Given the description of an element on the screen output the (x, y) to click on. 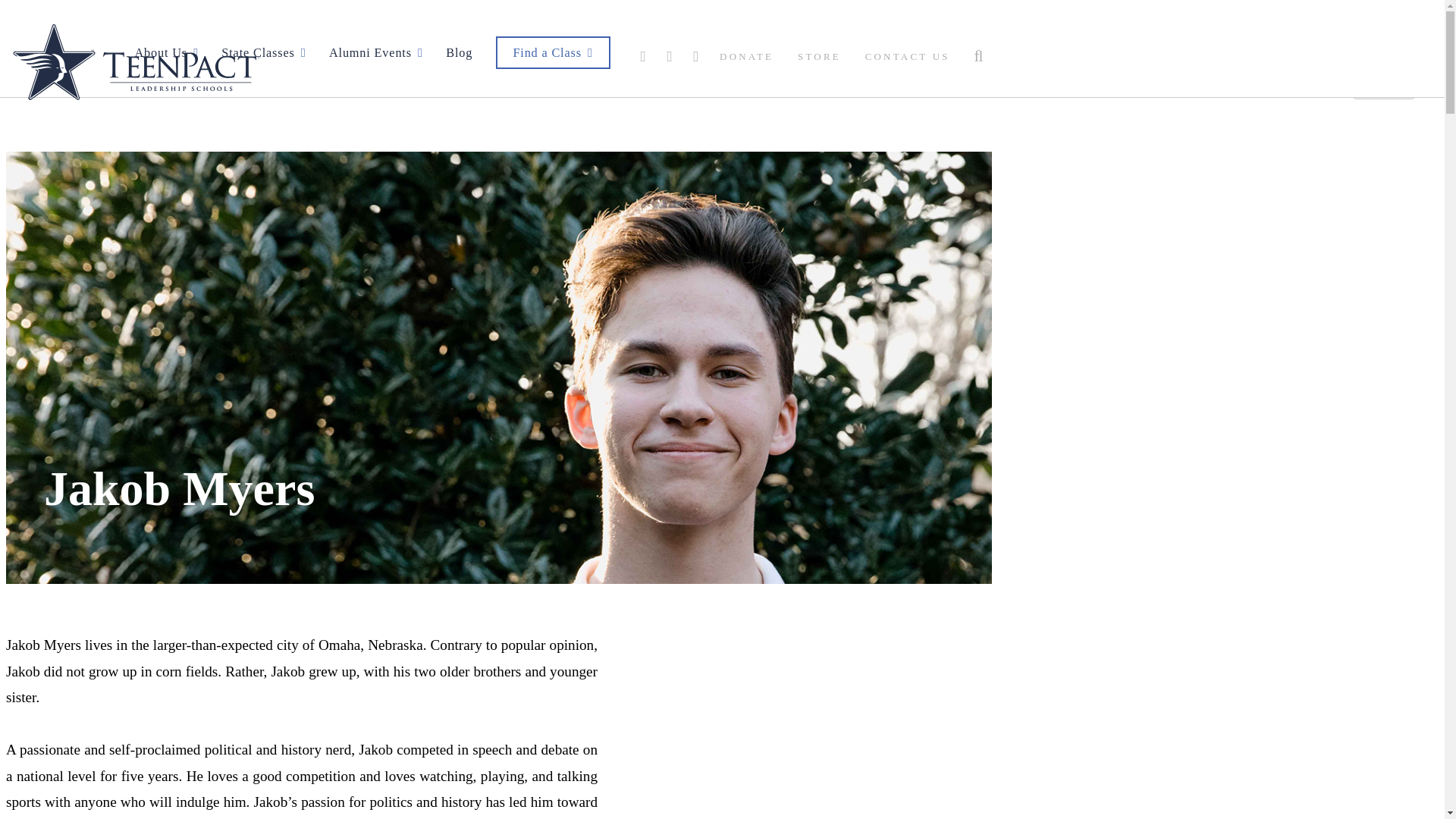
YouTube (696, 56)
Instagram (670, 56)
Facebook (643, 56)
State Classes (263, 52)
CONTACT US (907, 56)
About Us (166, 52)
DONATE (746, 56)
Alumni Events (376, 52)
STORE (819, 56)
